Given the description of an element on the screen output the (x, y) to click on. 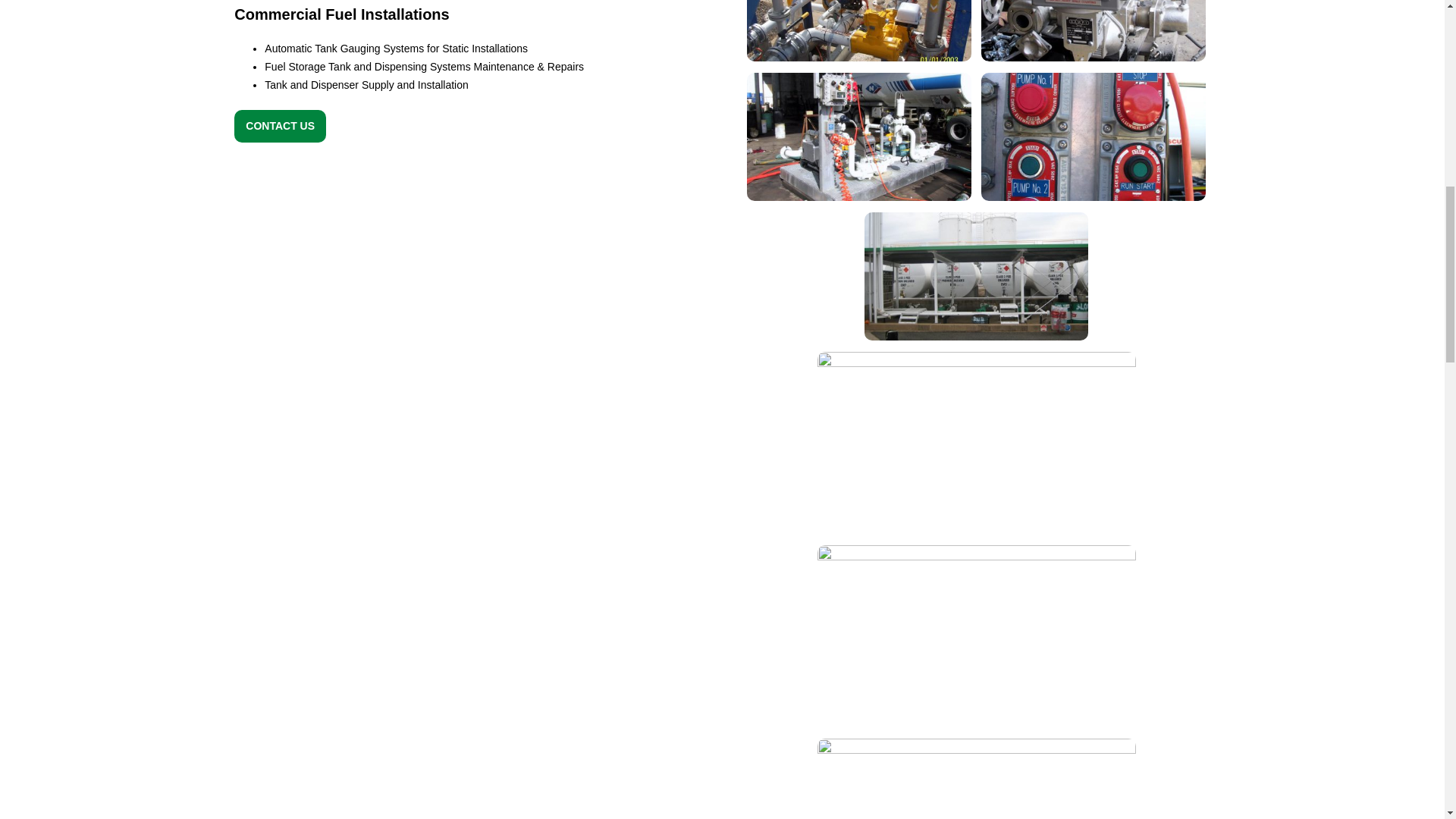
CONTACT US (280, 126)
